Given the description of an element on the screen output the (x, y) to click on. 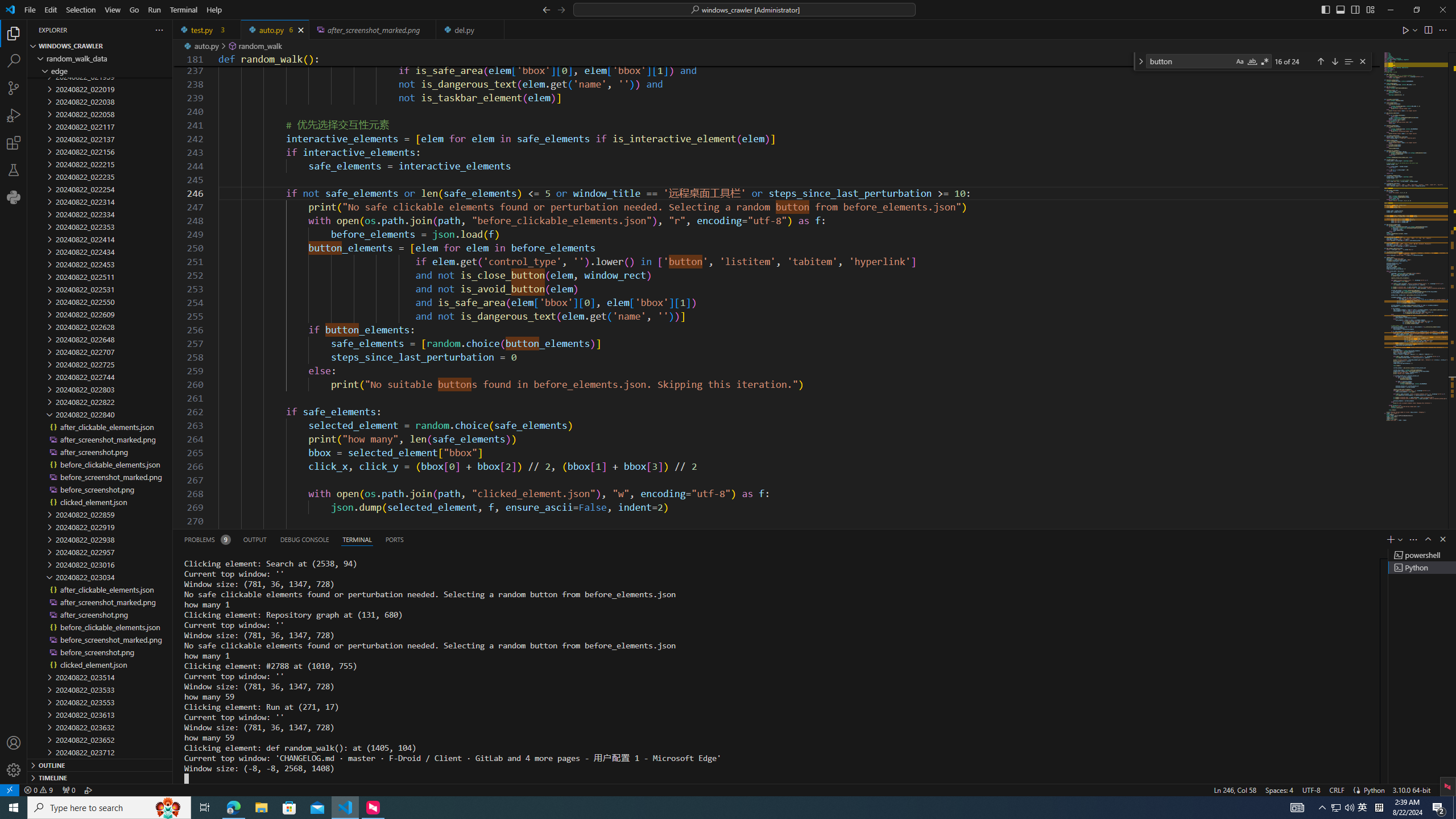
Search (Ctrl+Shift+F) (13, 60)
Timeline Section (99, 777)
Testing (13, 169)
Go Back (Alt+LeftArrow) (546, 9)
Terminal (183, 9)
Hide Panel (1442, 539)
Editor actions (1425, 29)
Accounts (13, 742)
